Given the description of an element on the screen output the (x, y) to click on. 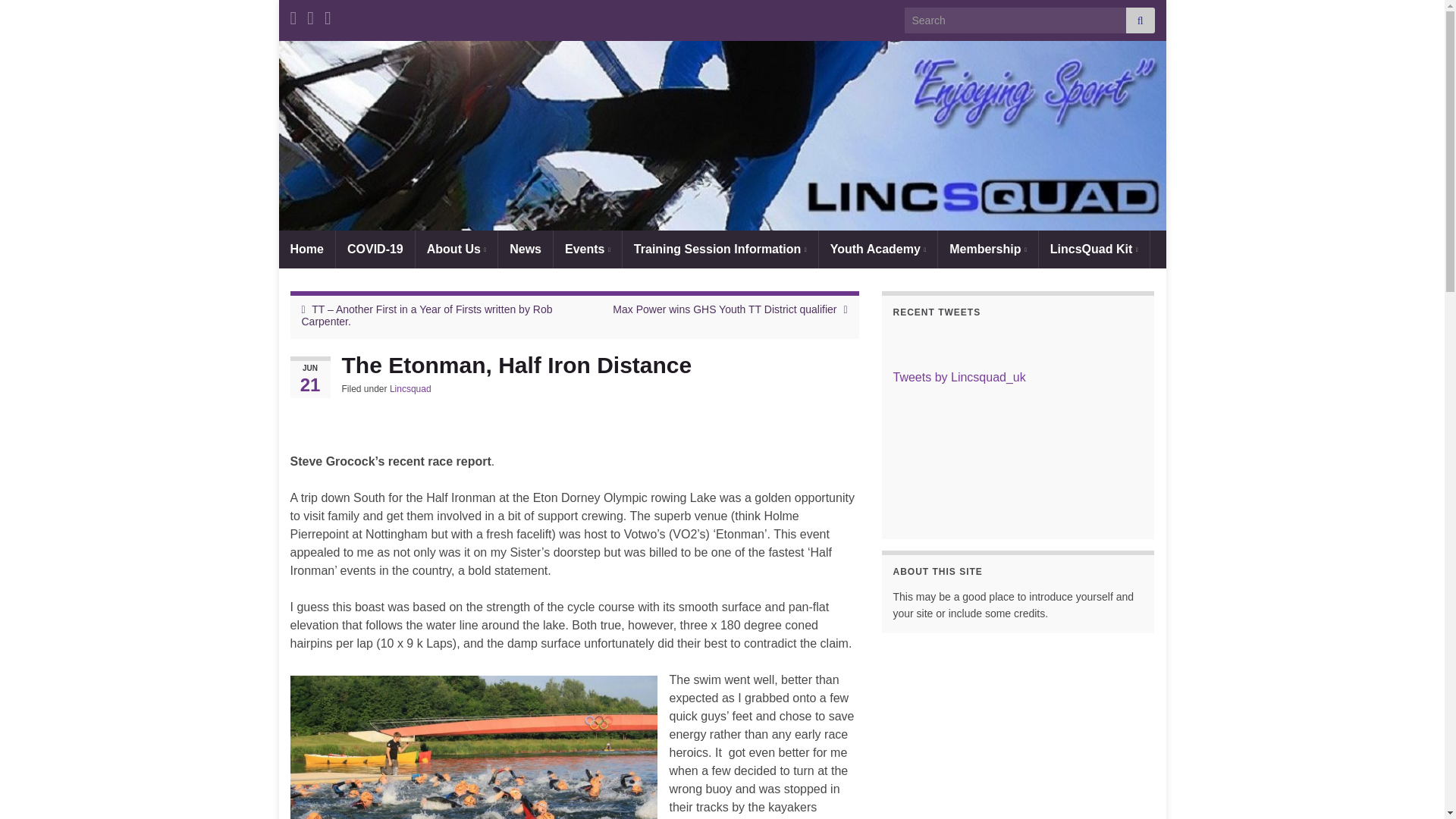
Events (587, 249)
Home (306, 249)
Youth Academy (877, 249)
Training Session Information (720, 249)
News (525, 249)
Membership (987, 249)
COVID-19 (375, 249)
About Us (455, 249)
